Given the description of an element on the screen output the (x, y) to click on. 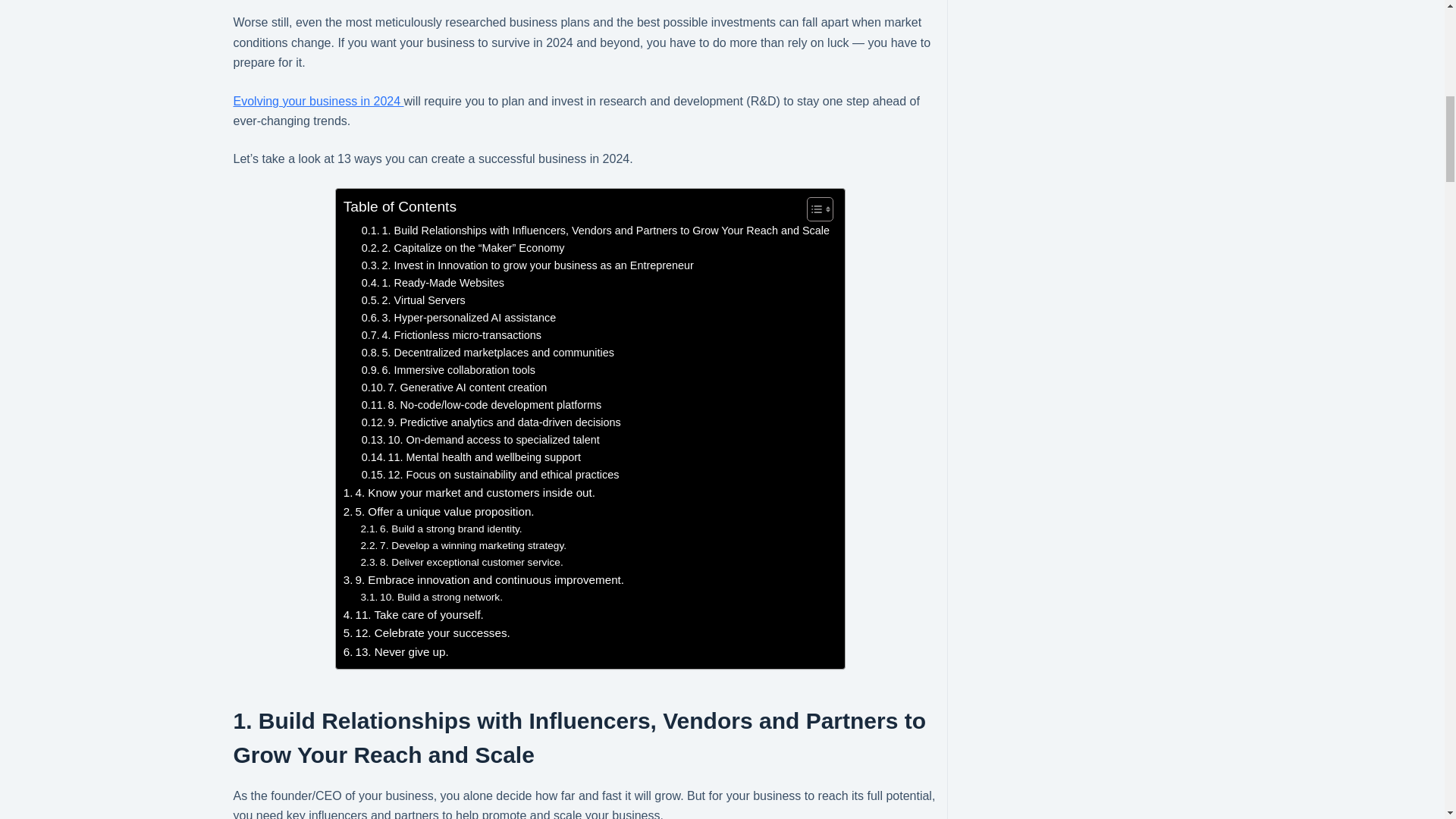
1. Ready-Made Websites (432, 282)
2. Virtual Servers (413, 300)
5. Decentralized marketplaces and communities (487, 352)
4. Frictionless micro-transactions (451, 334)
3. Hyper-personalized AI assistance (458, 317)
6. Immersive collaboration tools (448, 370)
